Given the description of an element on the screen output the (x, y) to click on. 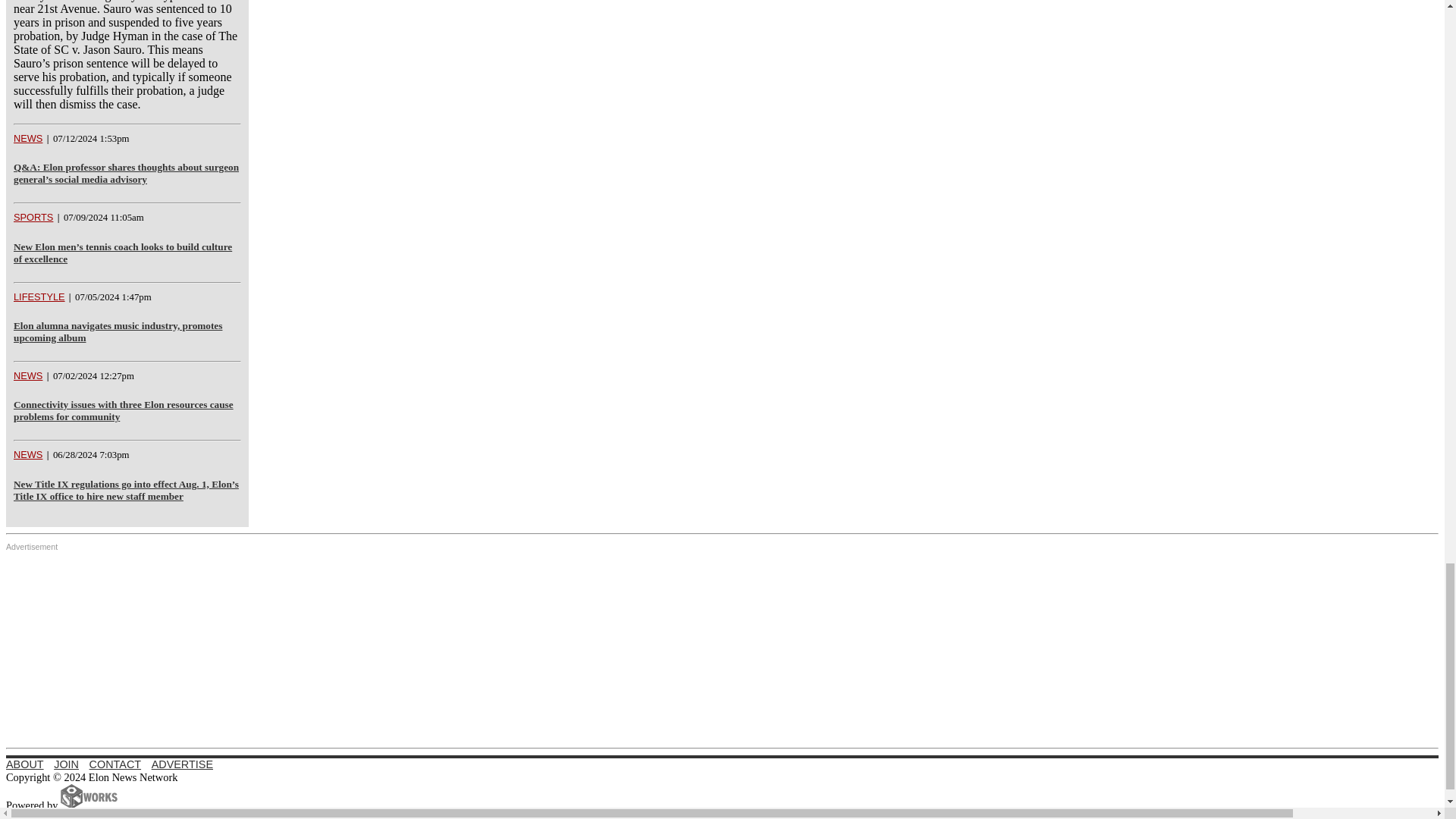
NEWS (27, 138)
3rd party ad content (721, 647)
ABOUT (24, 764)
SPORTS (32, 216)
NEWS (27, 375)
NEWS (27, 454)
LIFESTYLE (39, 296)
JOIN (65, 764)
